Given the description of an element on the screen output the (x, y) to click on. 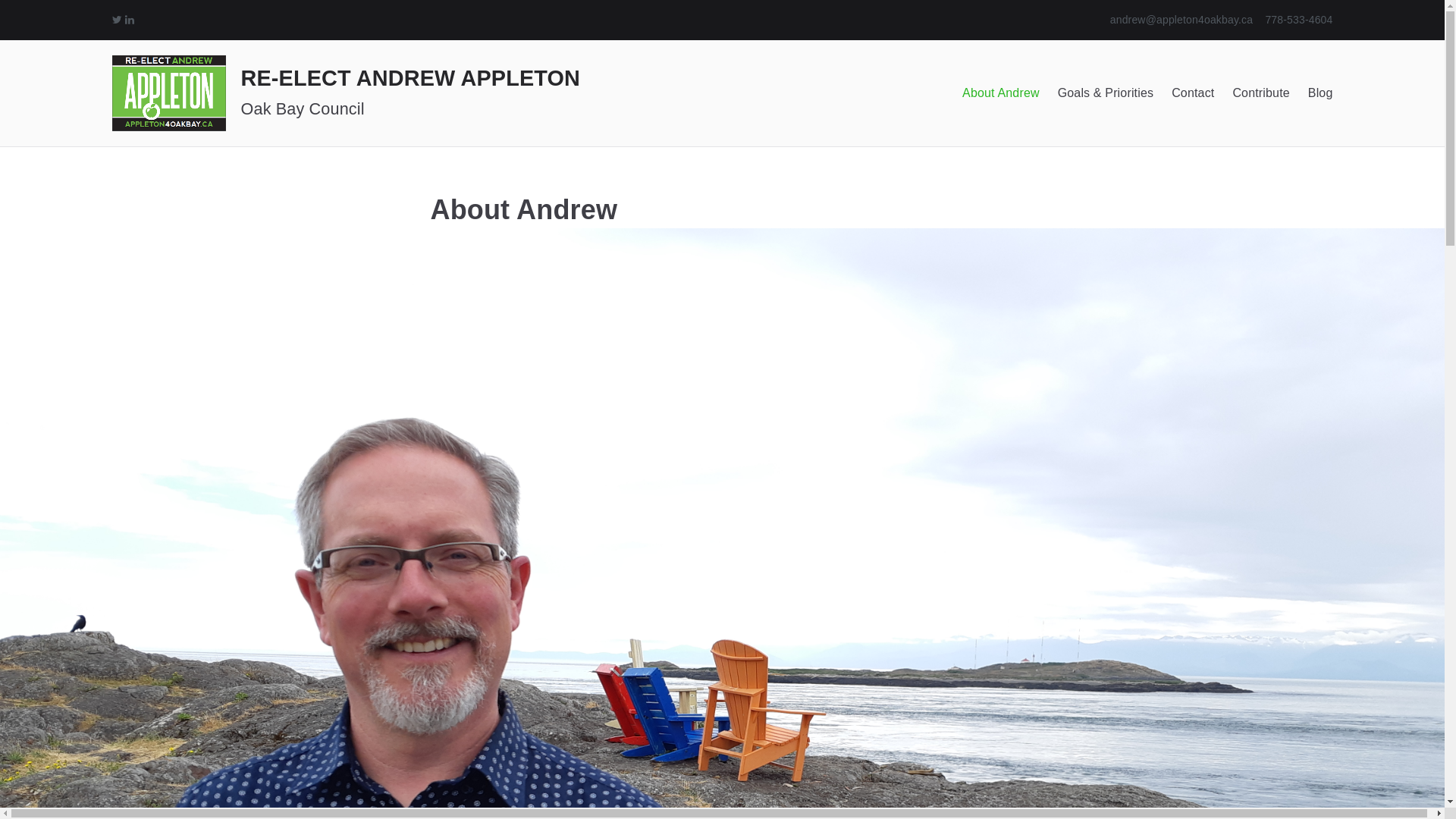
778-533-4604 Element type: text (1298, 19)
Contribute Element type: text (1260, 93)
andrew@appleton4oakbay.ca Element type: text (1181, 19)
RE-ELECT ANDREW APPLETON Element type: text (410, 77)
Goals & Priorities Element type: text (1105, 93)
Blog Element type: text (1320, 93)
About Andrew Element type: text (1000, 93)
Contact Element type: text (1192, 93)
